Given the description of an element on the screen output the (x, y) to click on. 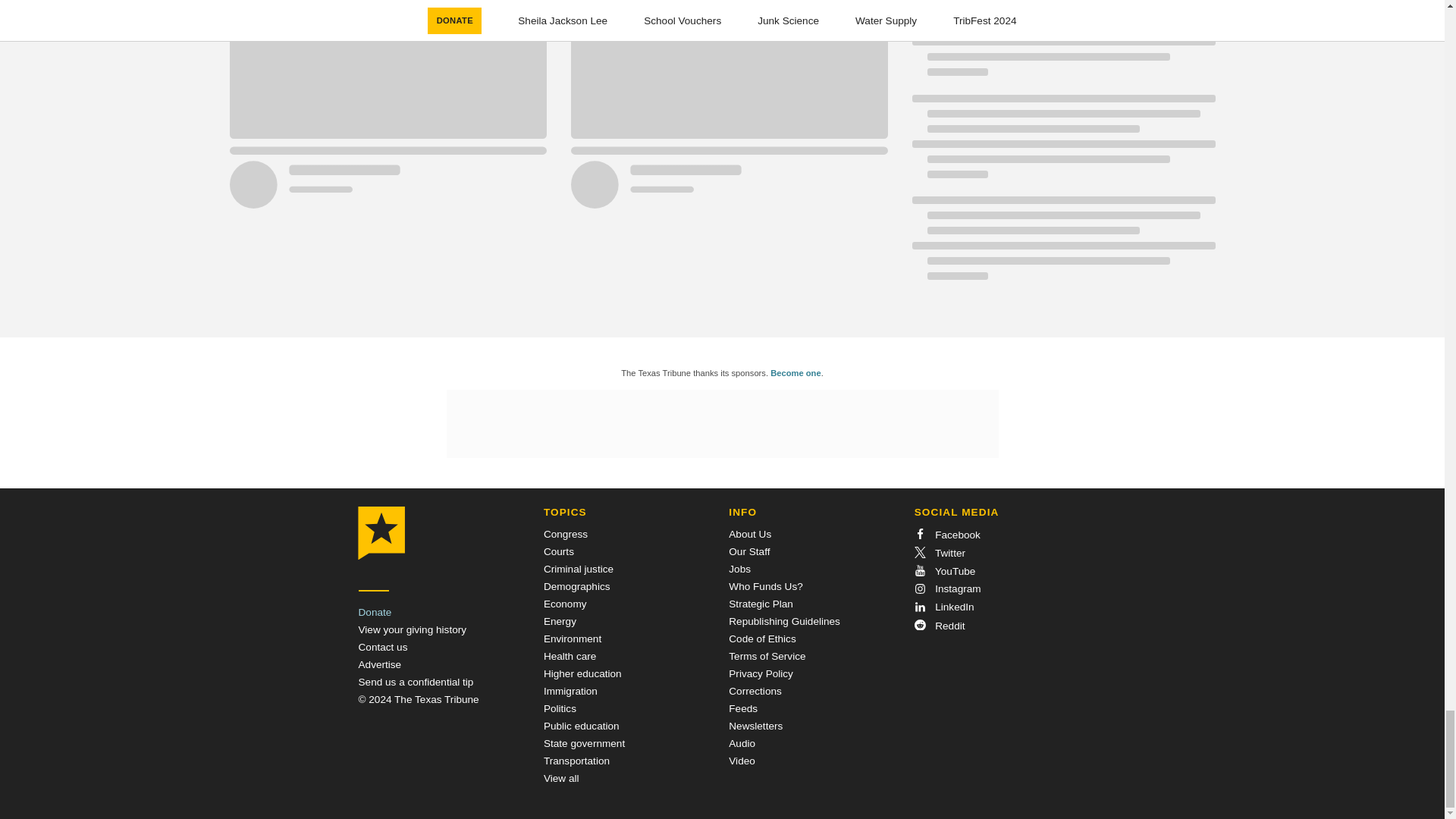
Facebook (946, 534)
Audio (742, 743)
Contact us (382, 646)
Donate (374, 612)
View your giving history (411, 629)
About Us (750, 533)
Strategic Plan (761, 603)
Corrections (755, 690)
Newsletters (756, 726)
Advertise (379, 664)
Send a Tip (415, 681)
Feeds (743, 708)
Video (742, 760)
Code of Ethics (761, 638)
Privacy Policy (761, 673)
